Given the description of an element on the screen output the (x, y) to click on. 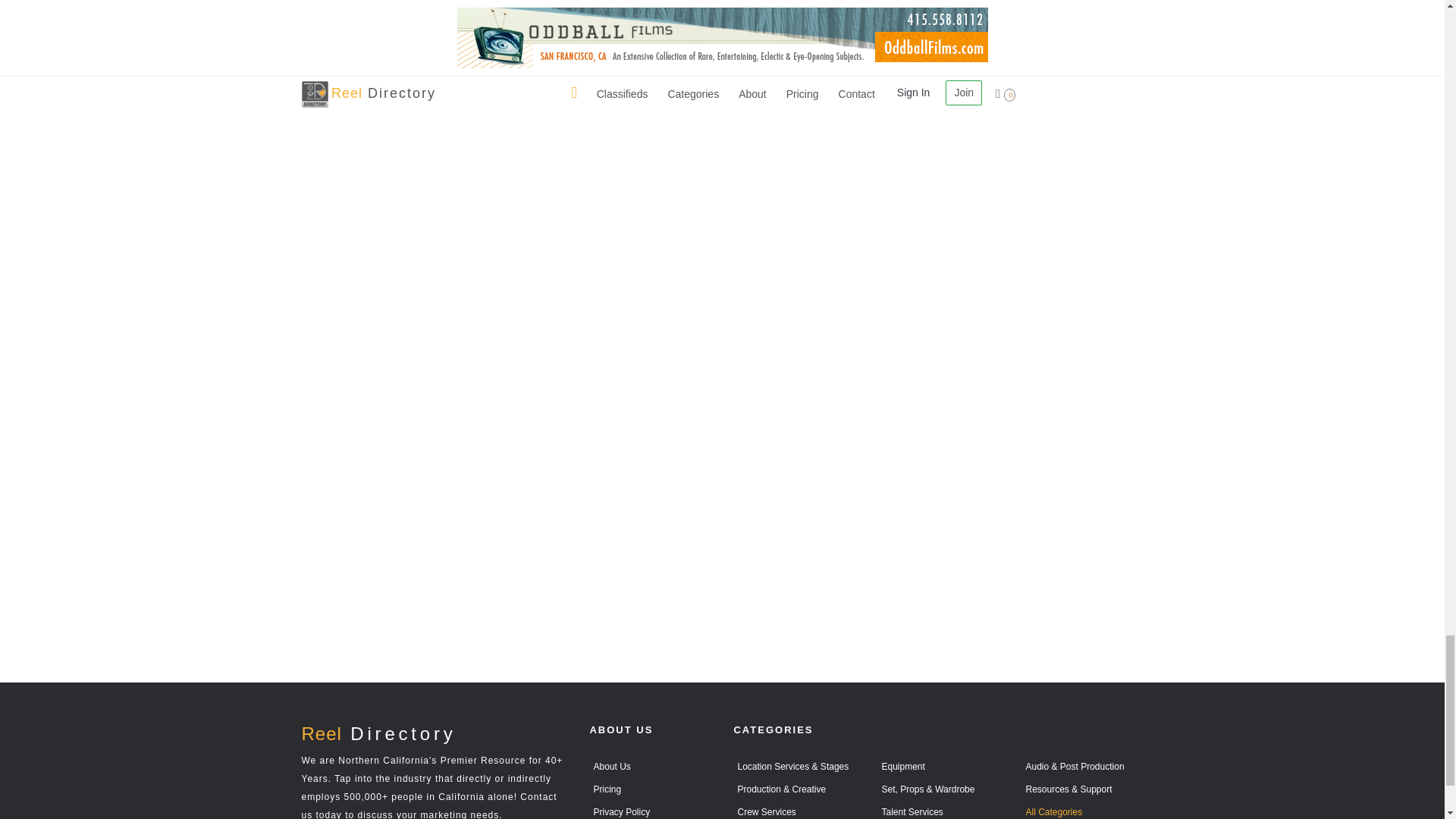
Pricing (605, 787)
About Us (609, 765)
All Categories (1051, 810)
